Given the description of an element on the screen output the (x, y) to click on. 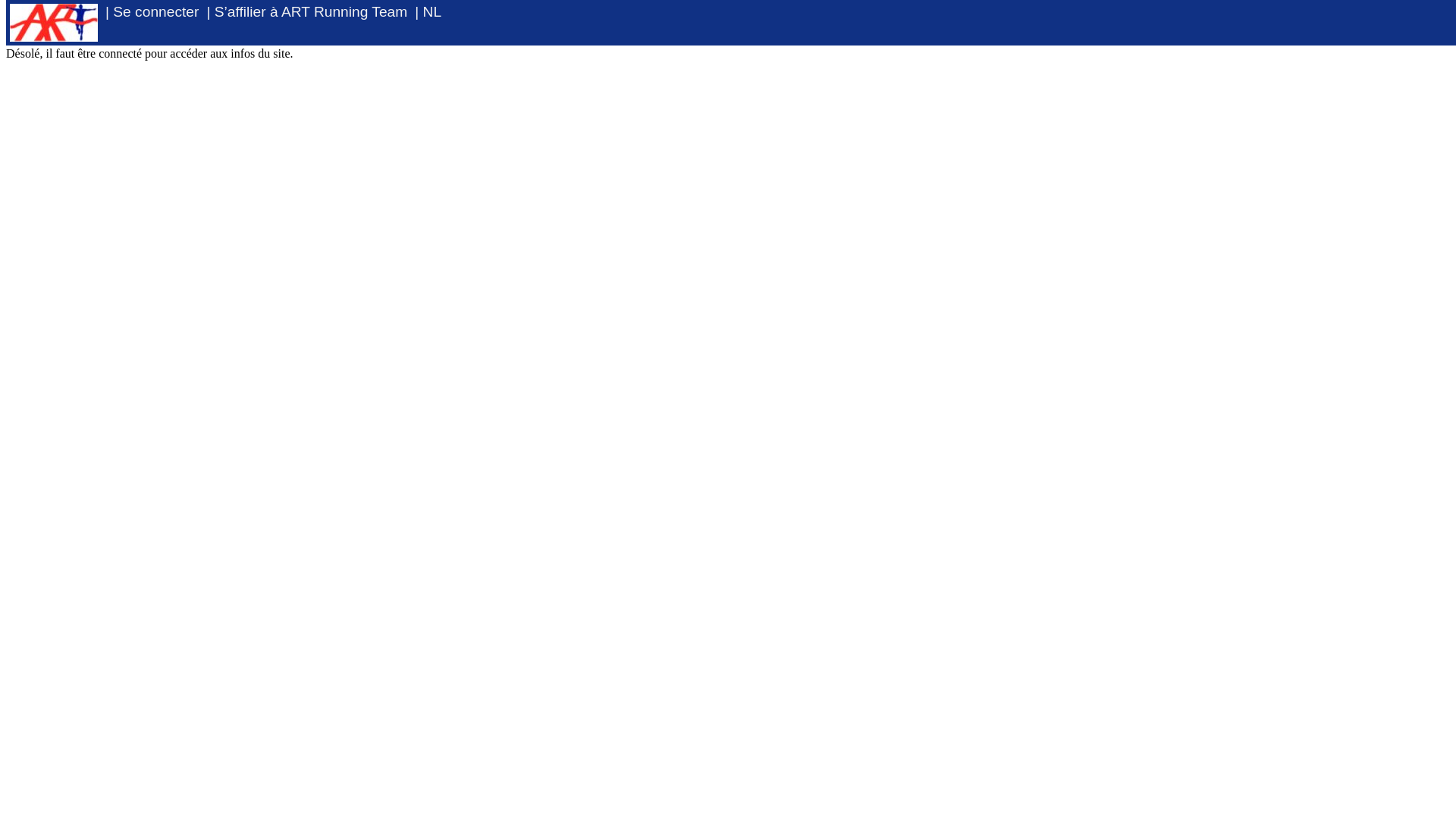
| Se connecter Element type: text (151, 12)
| NL Element type: text (428, 12)
